Given the description of an element on the screen output the (x, y) to click on. 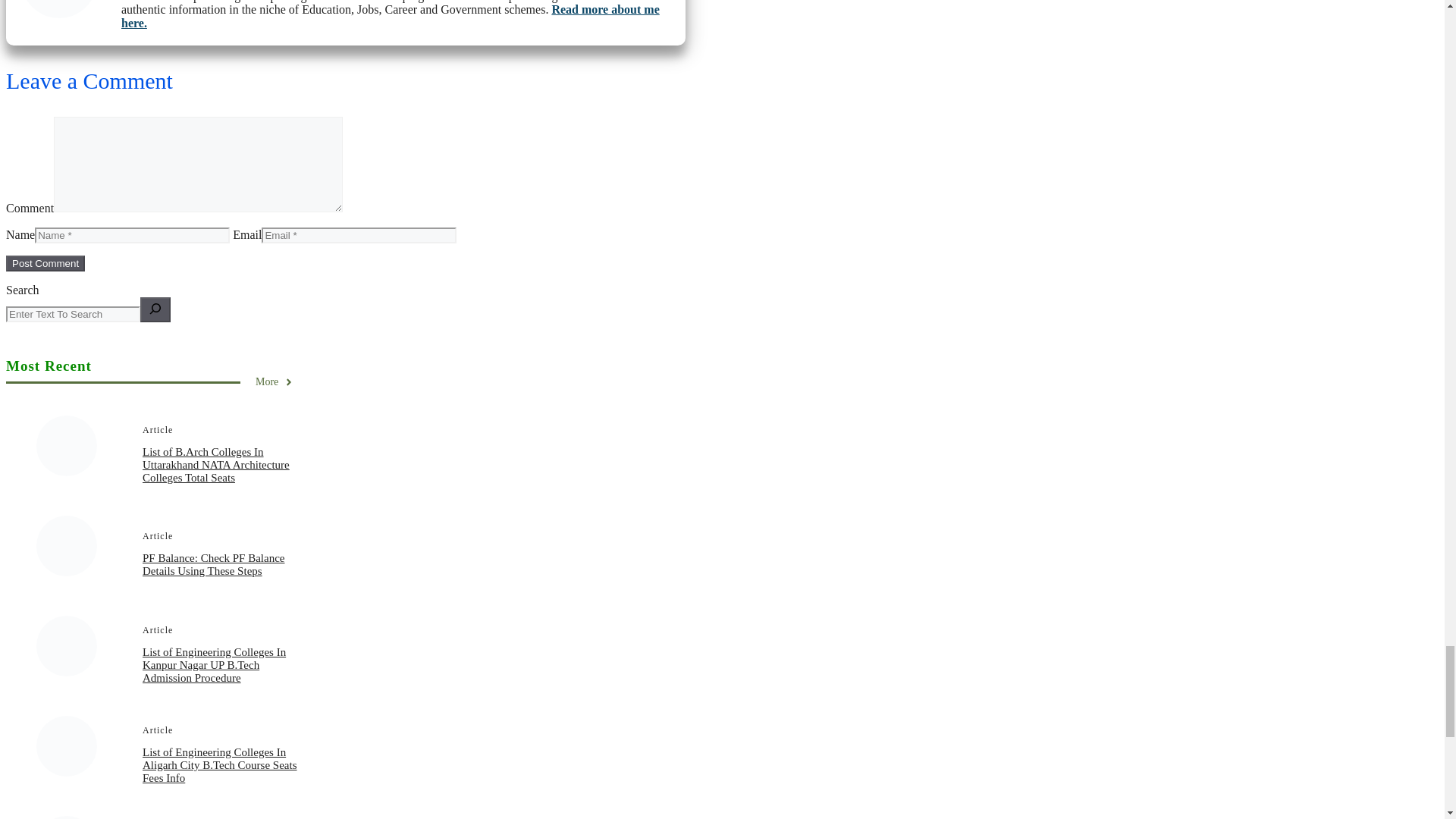
Read more about me here. (389, 16)
Post Comment (44, 263)
PF Balance: Check PF Balance Details Using These Steps (212, 564)
More (275, 381)
Post Comment (44, 263)
